Given the description of an element on the screen output the (x, y) to click on. 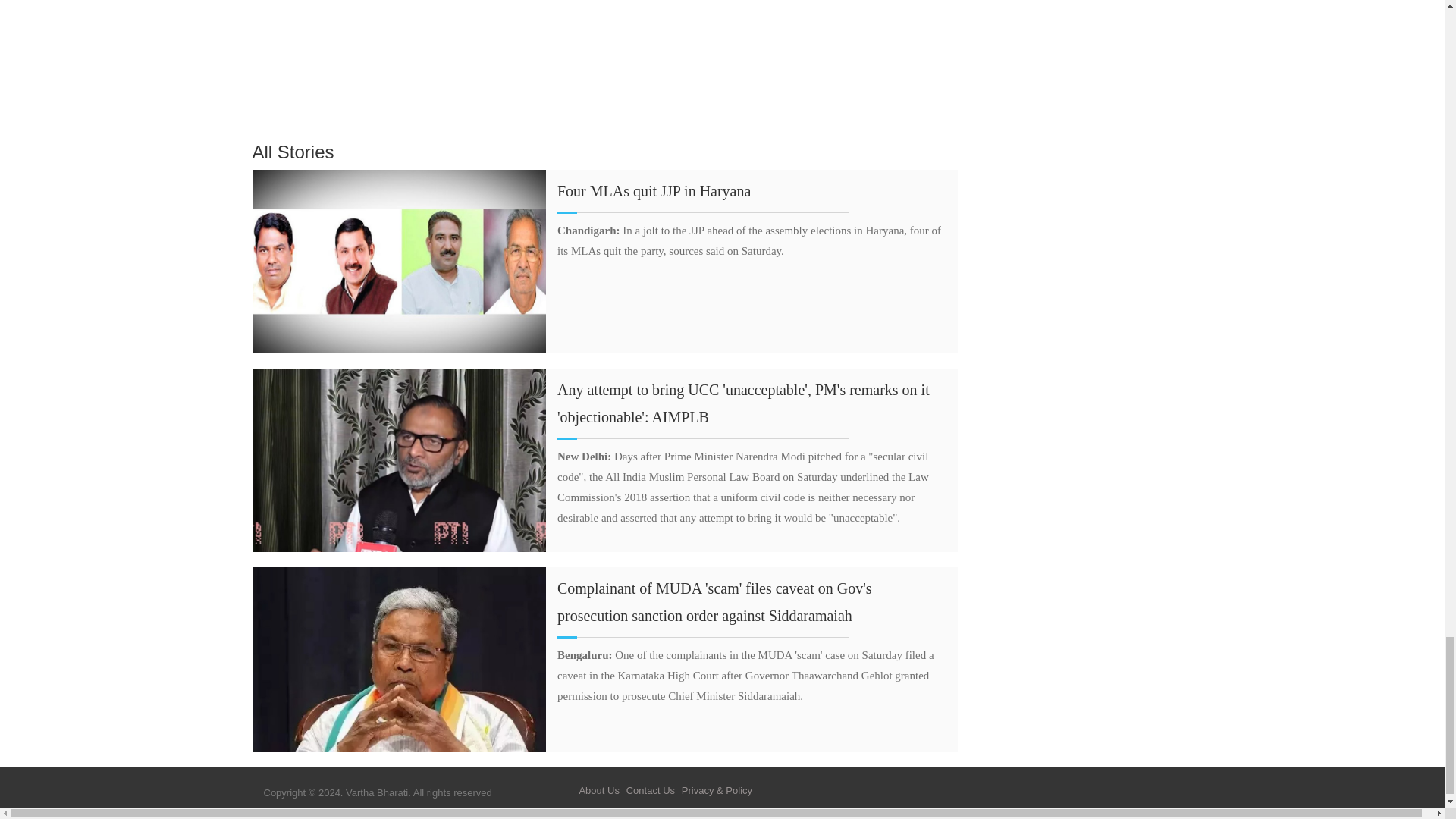
Four MLAs quit JJP in Haryana (654, 190)
